Given the description of an element on the screen output the (x, y) to click on. 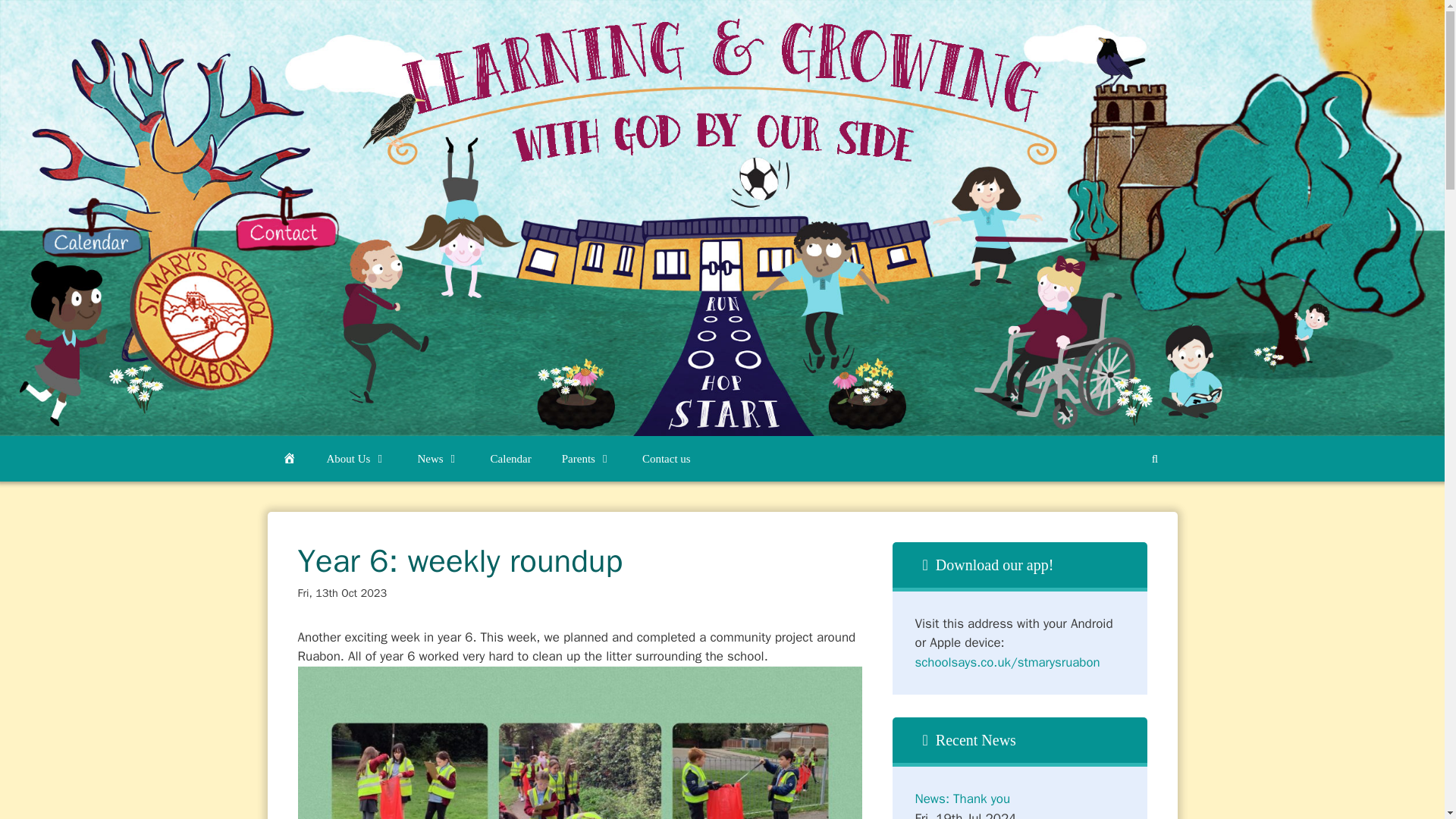
Parents (587, 458)
News (437, 458)
About Us (356, 458)
Contact us (666, 458)
Calendar (511, 458)
News: Thank you (962, 798)
